Given the description of an element on the screen output the (x, y) to click on. 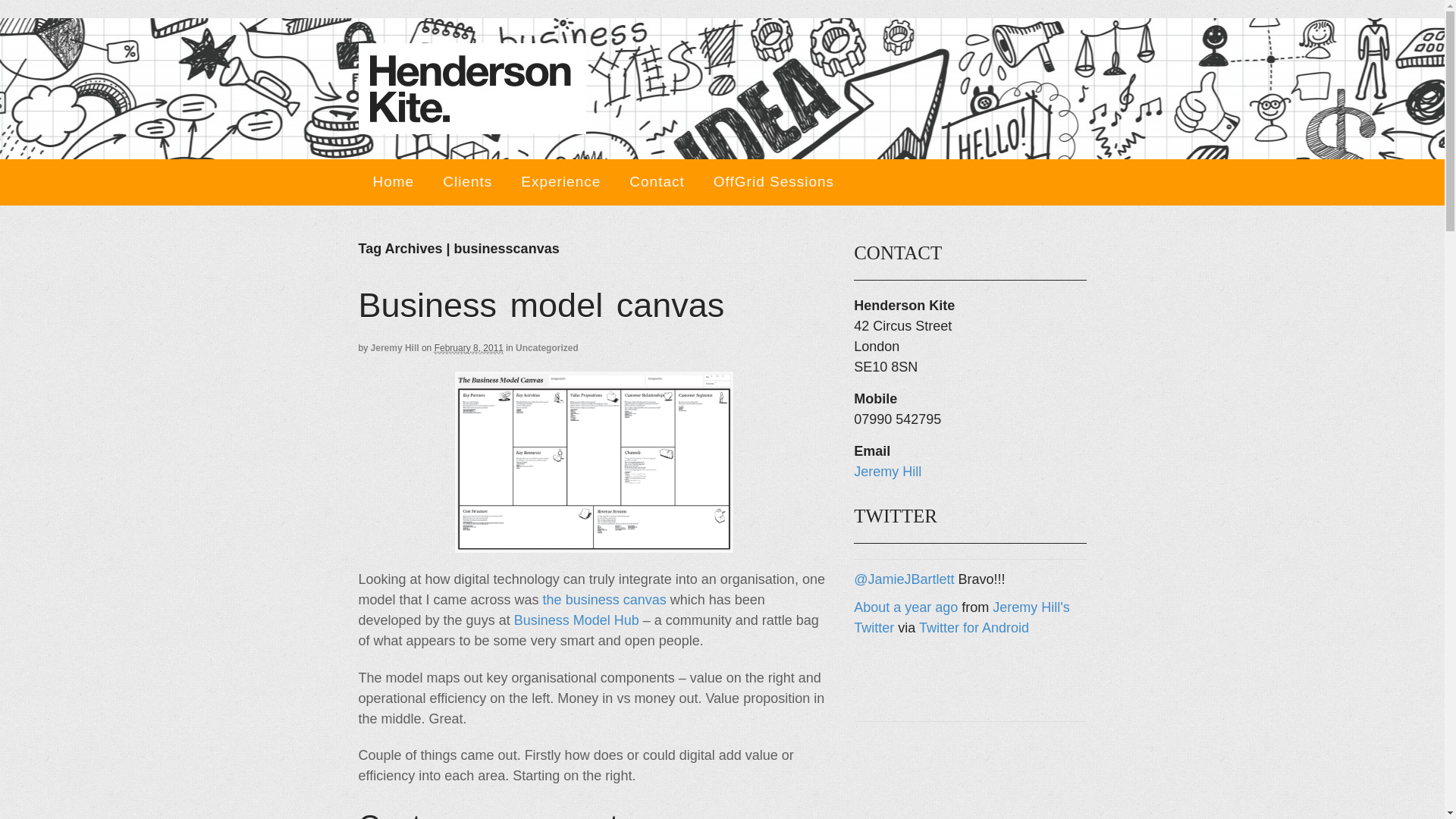
Business model canvas (540, 304)
Twitter for Android (973, 627)
Posts by Jeremy Hill (395, 347)
Home (393, 181)
About a year ago (905, 607)
Uncategorized (546, 347)
the business canvas (604, 599)
Jeremy Hill (887, 471)
Digital training, workshops and projects (471, 124)
View all items in Uncategorized (546, 347)
Clients (467, 181)
business canvas (593, 461)
Business Model Hub (576, 620)
Business model canvas (540, 304)
Jamie Bartlett (903, 579)
